Given the description of an element on the screen output the (x, y) to click on. 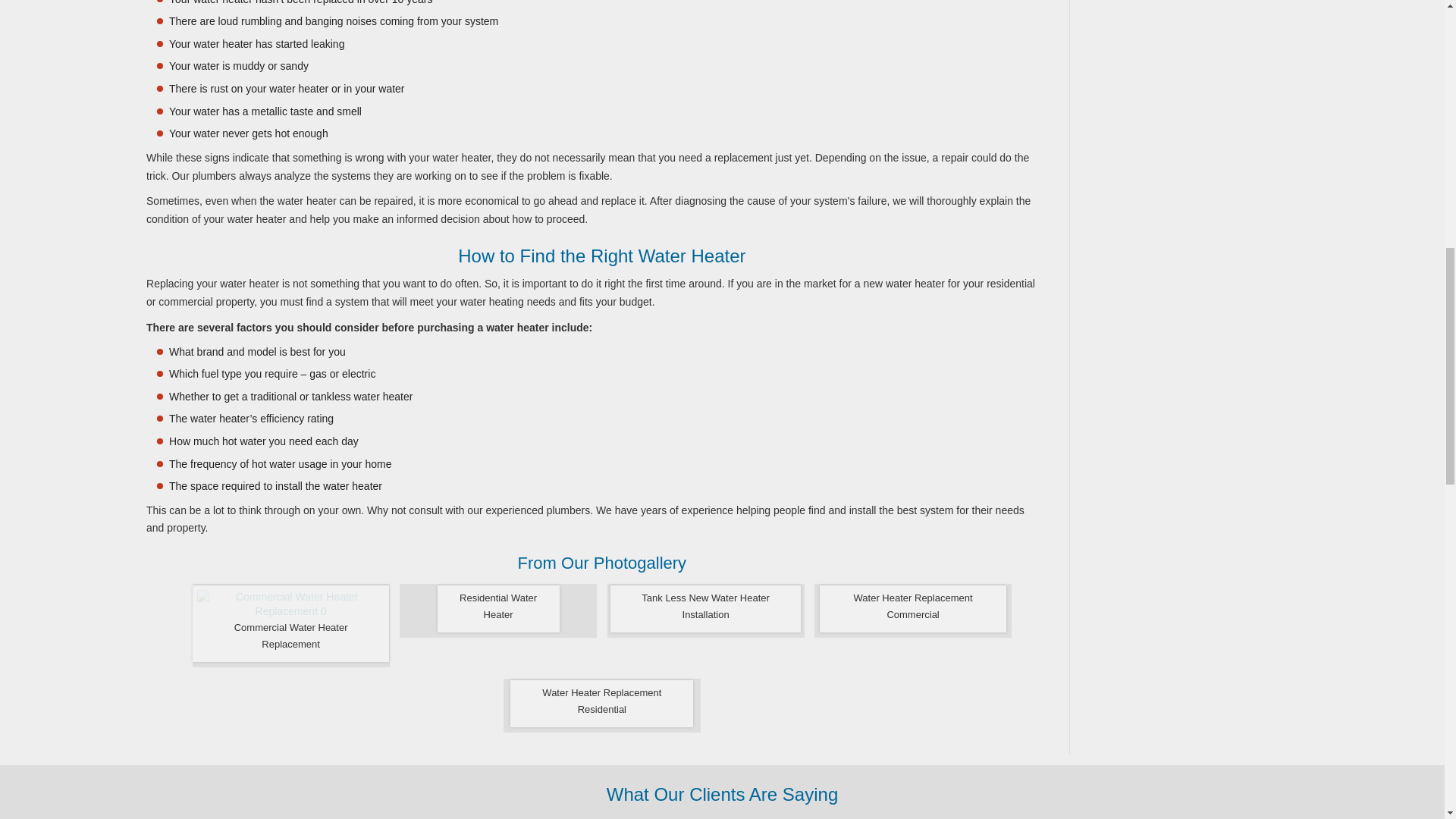
Residential Water Heater (498, 608)
Water Heater Replacement Commercial (912, 608)
Tank Less New Water Heater Installation (704, 608)
Commercial Water Heater Replacement (290, 623)
